Given the description of an element on the screen output the (x, y) to click on. 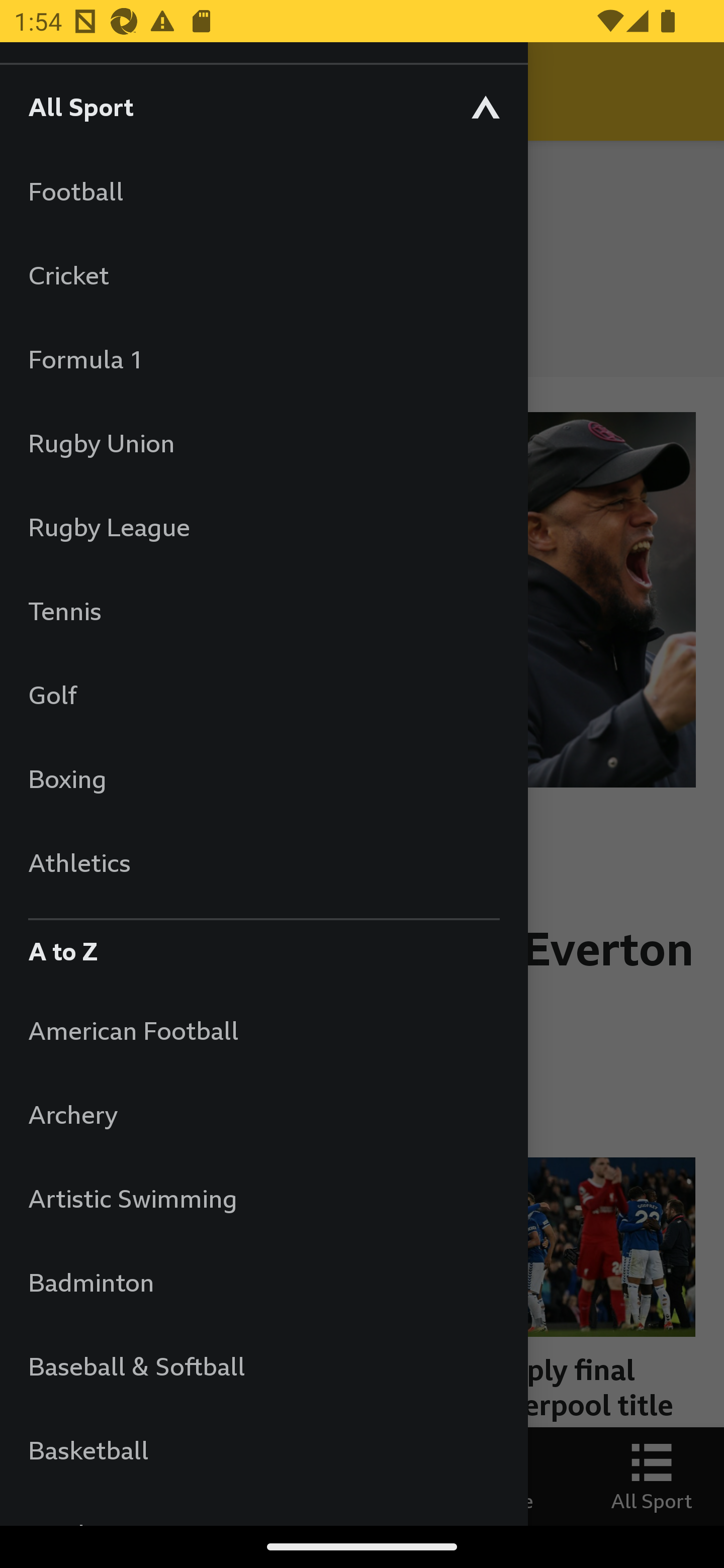
All Sport (263, 105)
Football (263, 190)
Cricket (263, 274)
Formula 1 (263, 358)
Rugby Union (263, 441)
Rugby League (263, 526)
Tennis (263, 609)
Golf (263, 694)
Boxing (263, 778)
Athletics (263, 862)
A to Z (263, 945)
American Football (263, 1029)
Archery (263, 1114)
Artistic Swimming (263, 1197)
Badminton (263, 1282)
Baseball & Softball (263, 1365)
Basketball (263, 1450)
